Given the description of an element on the screen output the (x, y) to click on. 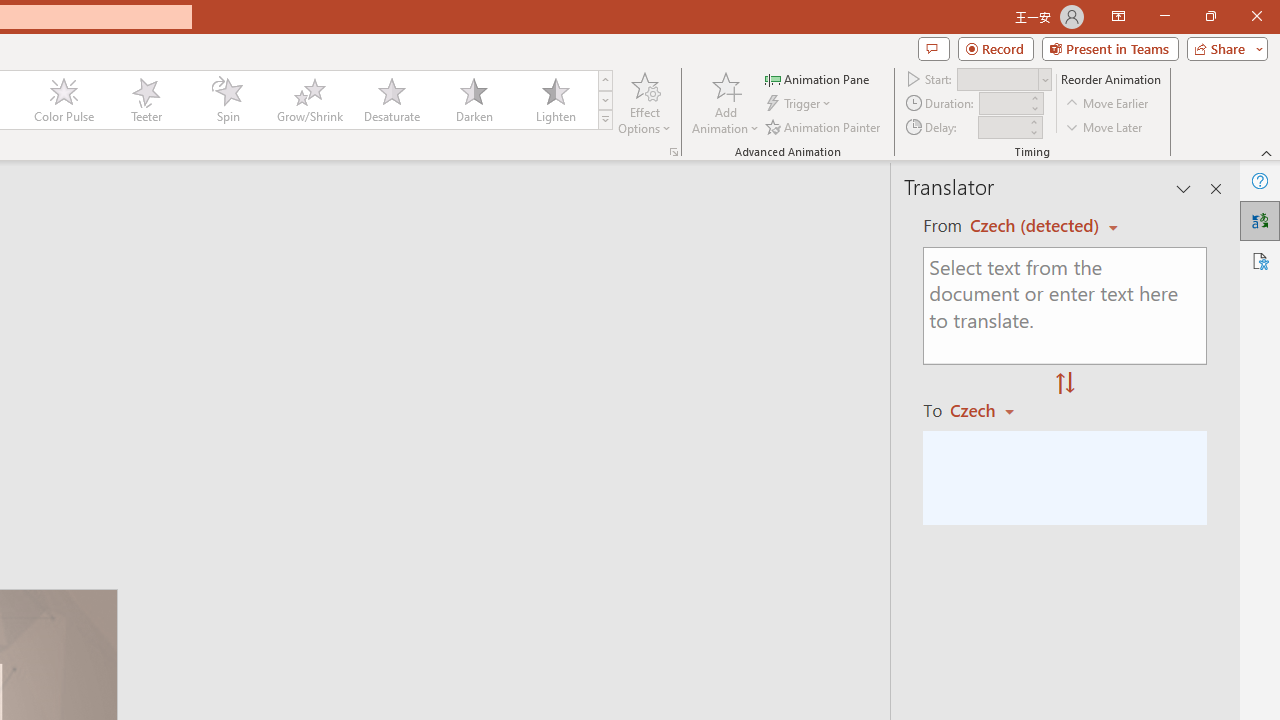
More Options... (673, 151)
Teeter (145, 100)
Desaturate (391, 100)
Czech (detected) (1037, 225)
Move Earlier (1107, 103)
Swap "from" and "to" languages. (1065, 383)
Lighten (555, 100)
Animation Pane (818, 78)
